Given the description of an element on the screen output the (x, y) to click on. 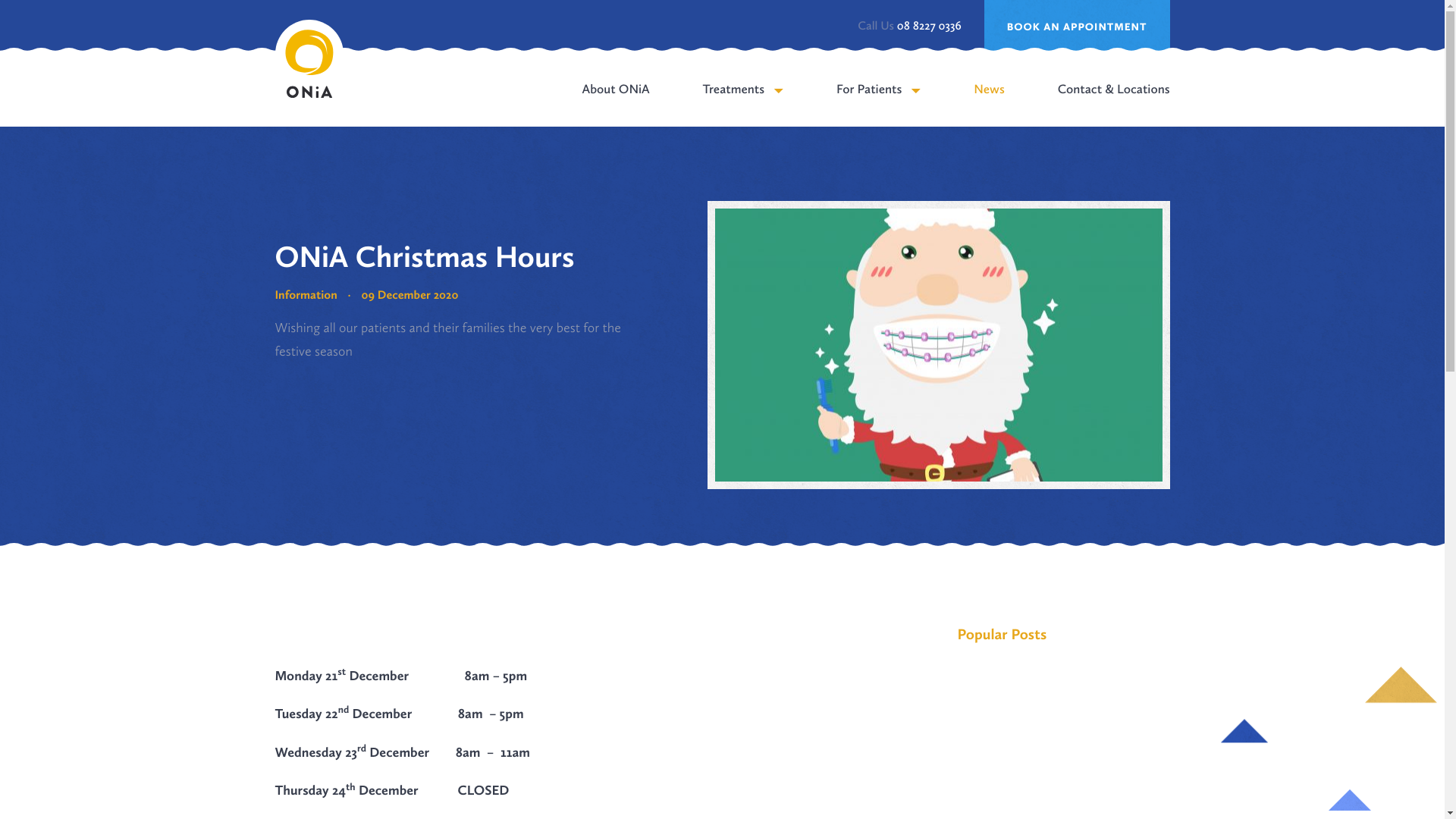
Information Element type: text (305, 295)
News Element type: text (988, 102)
For Patients Element type: text (878, 102)
BOOK AN APPOINTMENT Element type: text (1077, 26)
Treatments Element type: text (742, 102)
Call Us 08 8227 0336 Element type: text (908, 26)
About ONiA Element type: text (615, 102)
Contact & Locations Element type: text (1113, 102)
